Given the description of an element on the screen output the (x, y) to click on. 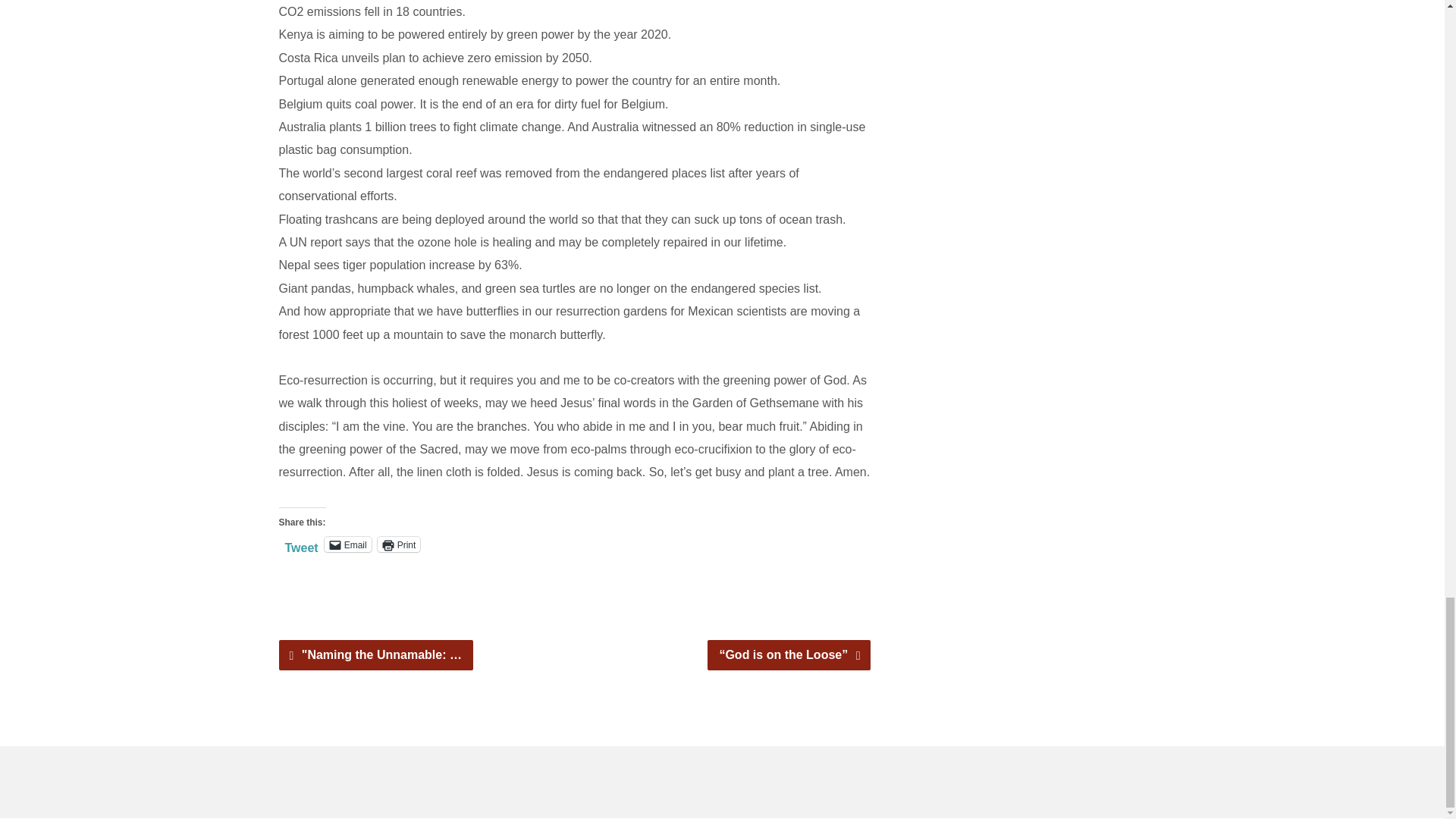
Click to print (398, 544)
Click to email a link to a friend (347, 544)
